Given the description of an element on the screen output the (x, y) to click on. 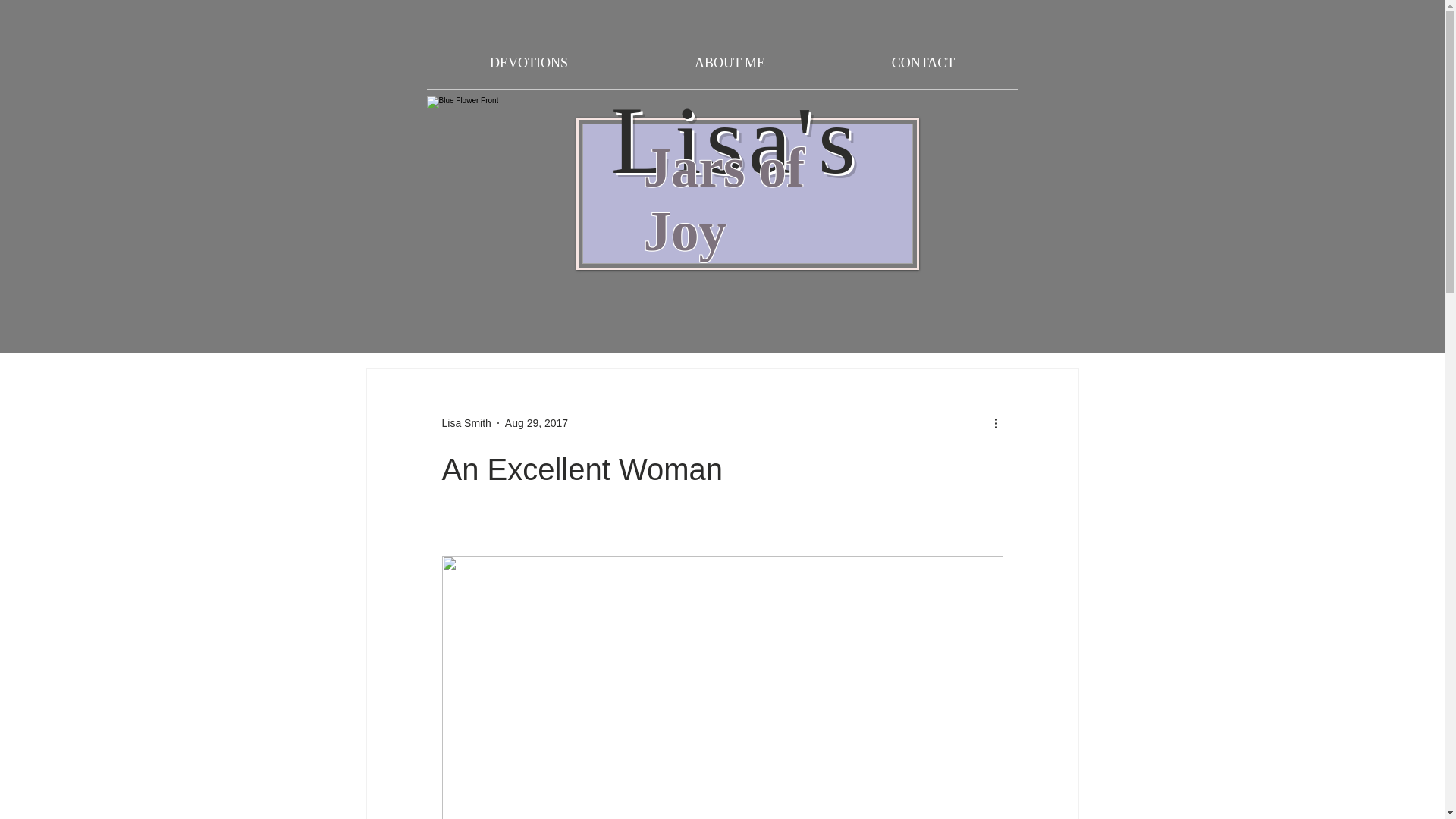
Aug 29, 2017 (536, 422)
ABOUT ME (729, 62)
CONTACT (922, 62)
DEVOTIONS (528, 62)
Lisa Smith (465, 423)
